Given the description of an element on the screen output the (x, y) to click on. 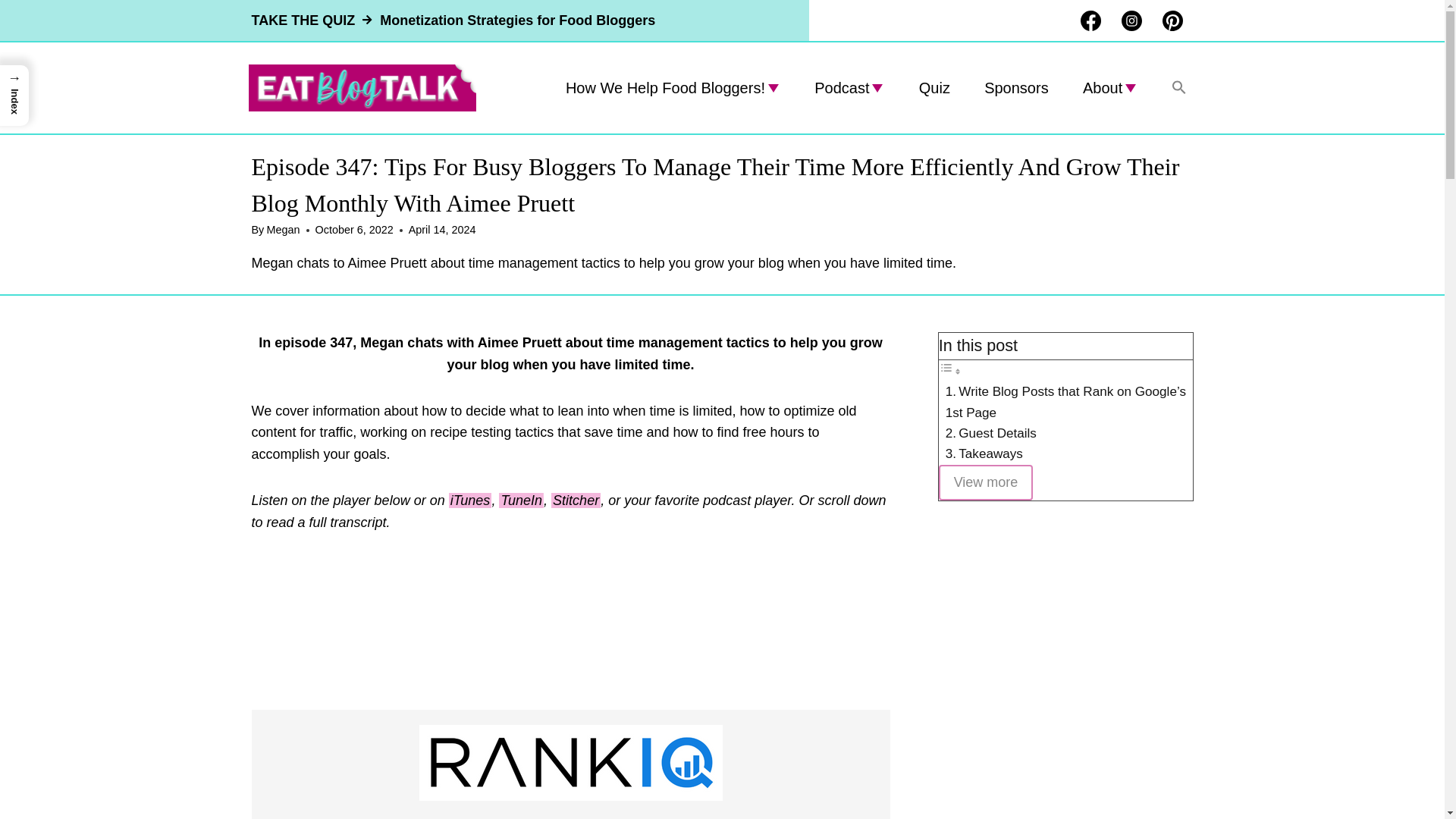
TuneIn (521, 500)
iTunes (470, 500)
About (1110, 87)
Podcast (849, 87)
Quiz (934, 87)
Megan (282, 229)
Embed Player (570, 630)
Sponsors (1016, 87)
Takeaways (990, 453)
Stitcher (575, 500)
